Given the description of an element on the screen output the (x, y) to click on. 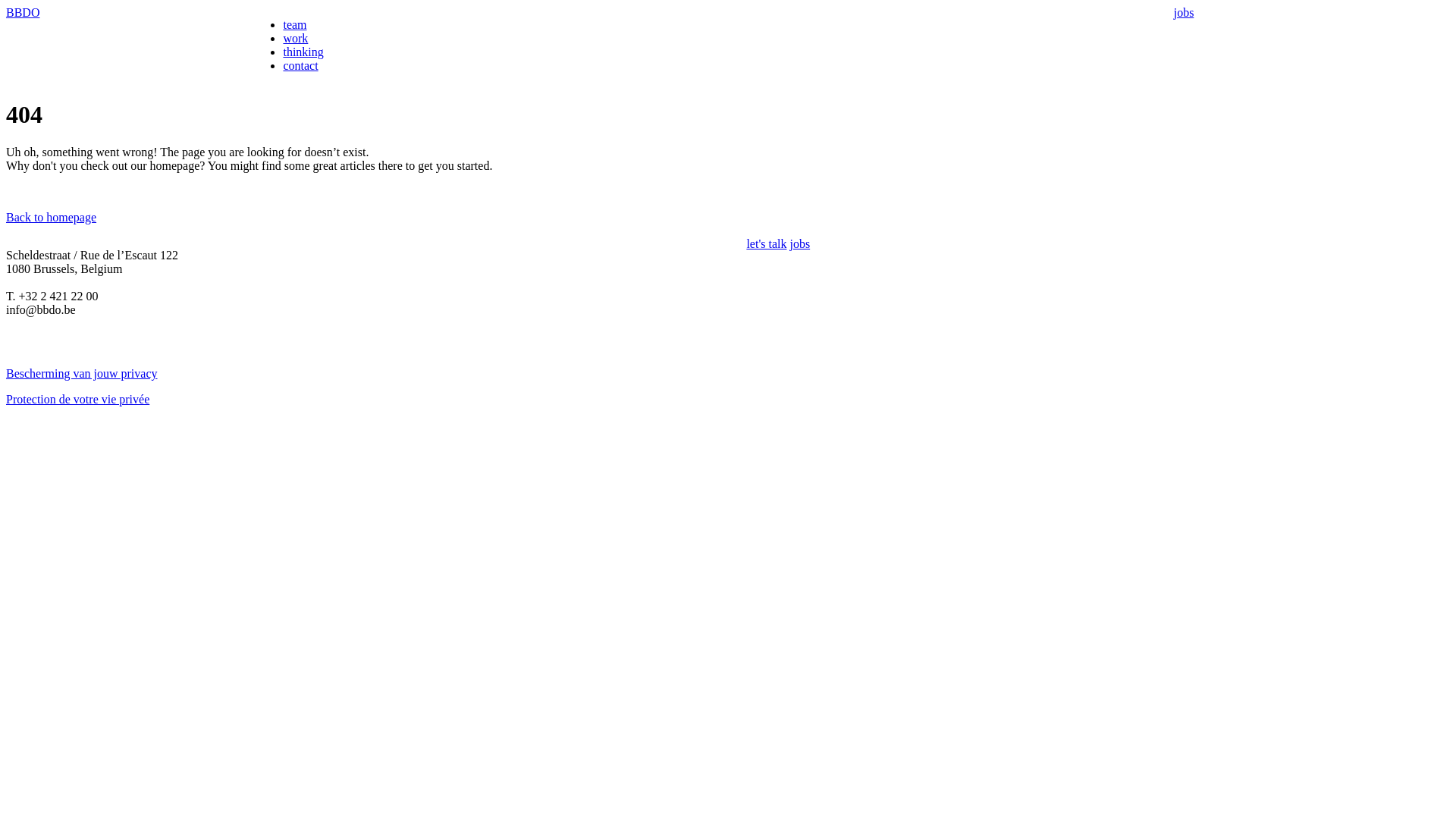
jobs Element type: text (799, 243)
thinking Element type: text (302, 51)
work Element type: text (294, 37)
team Element type: text (294, 24)
jobs Element type: text (1183, 12)
Bescherming van jouw privacy Element type: text (81, 373)
contact Element type: text (299, 65)
Back to homepage Element type: text (51, 216)
let's talk Element type: text (766, 243)
BBDO Element type: text (22, 12)
